Given the description of an element on the screen output the (x, y) to click on. 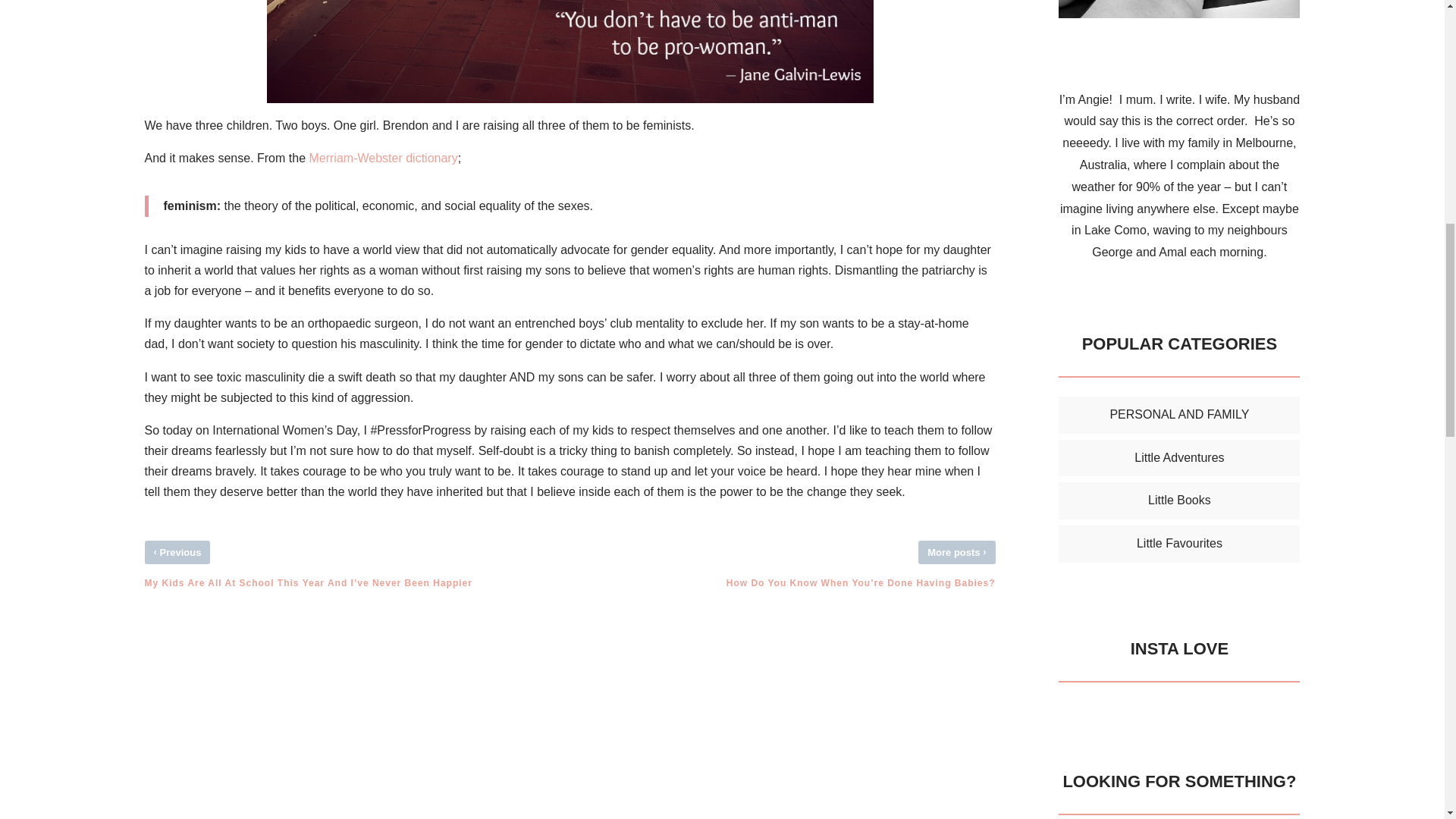
Little Favourites (1180, 543)
advertisement (1179, 9)
Little Books (1179, 499)
Little Adventures (1179, 457)
PERSONAL AND FAMILY (1179, 413)
Merriam-Webster dictionary (382, 157)
Intl Womens Day (569, 51)
